Given the description of an element on the screen output the (x, y) to click on. 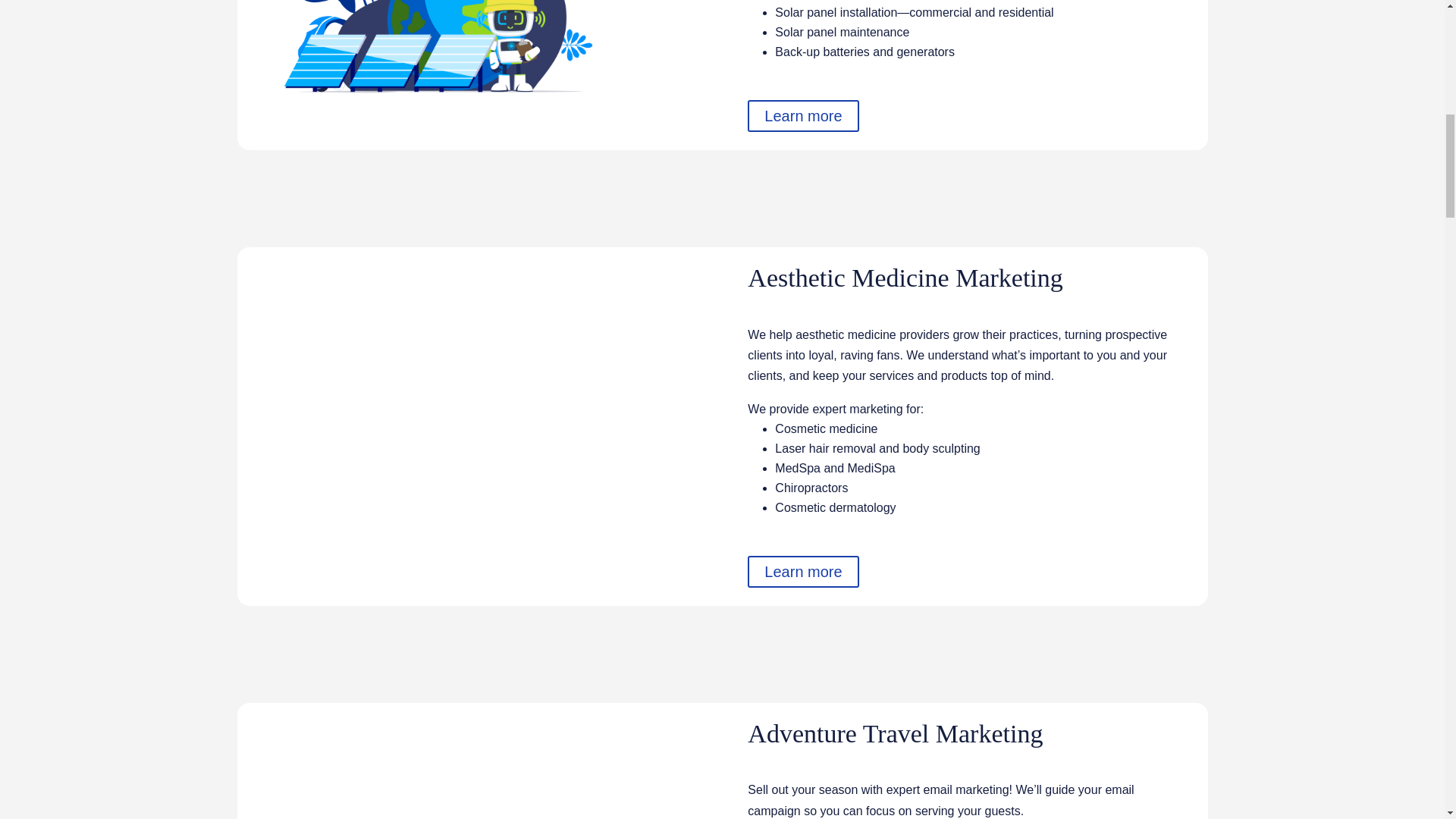
eebee Solar 2 (436, 48)
